Given the description of an element on the screen output the (x, y) to click on. 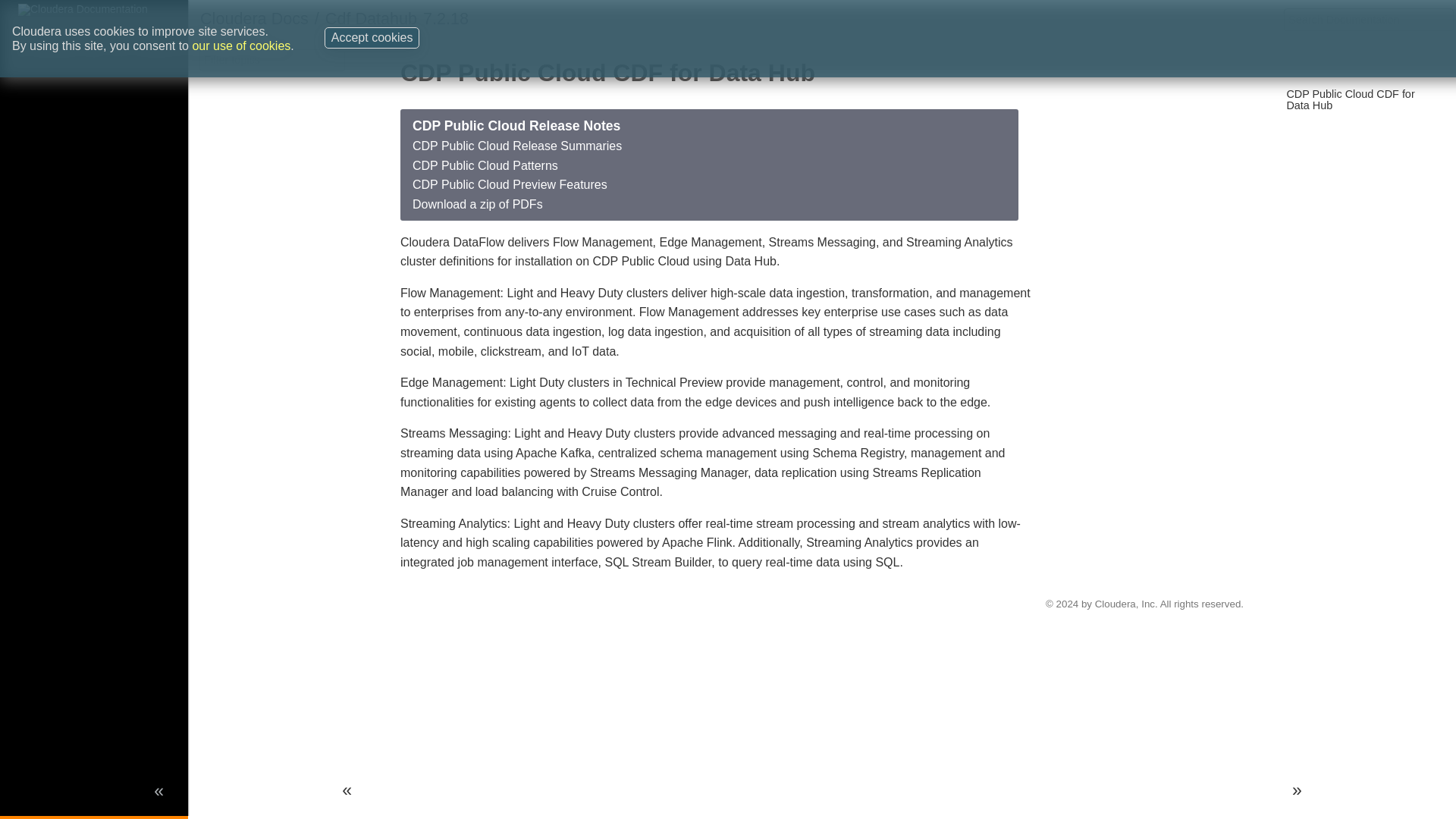
CDP Public Cloud Preview Features (509, 184)
Cloudera Docs (254, 18)
Download a zip of PDFs (477, 204)
Accept cookies (372, 34)
our use of cookies (240, 40)
CDP Public Cloud Patterns (484, 164)
CDP Public Cloud Release Summaries (516, 145)
CDP Public Cloud CDF for Data Hub (1349, 99)
Cdf Datahub (370, 18)
CDP Public Cloud Release Notes (516, 125)
